Given the description of an element on the screen output the (x, y) to click on. 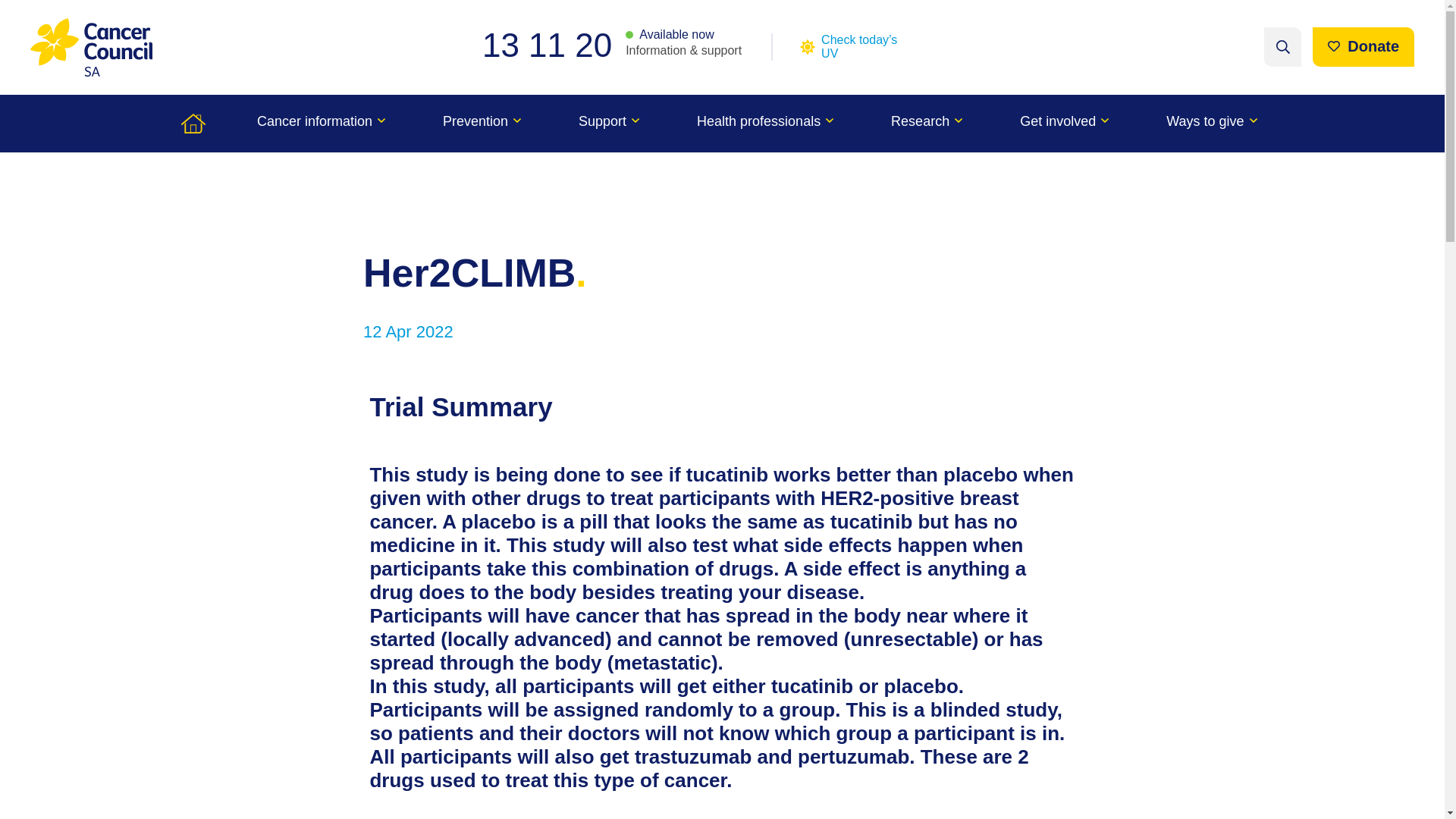
Cancer information (320, 123)
13 11 20 (553, 44)
Support (609, 123)
Prevention (481, 123)
Donate (1363, 46)
Available now (670, 34)
